Given the description of an element on the screen output the (x, y) to click on. 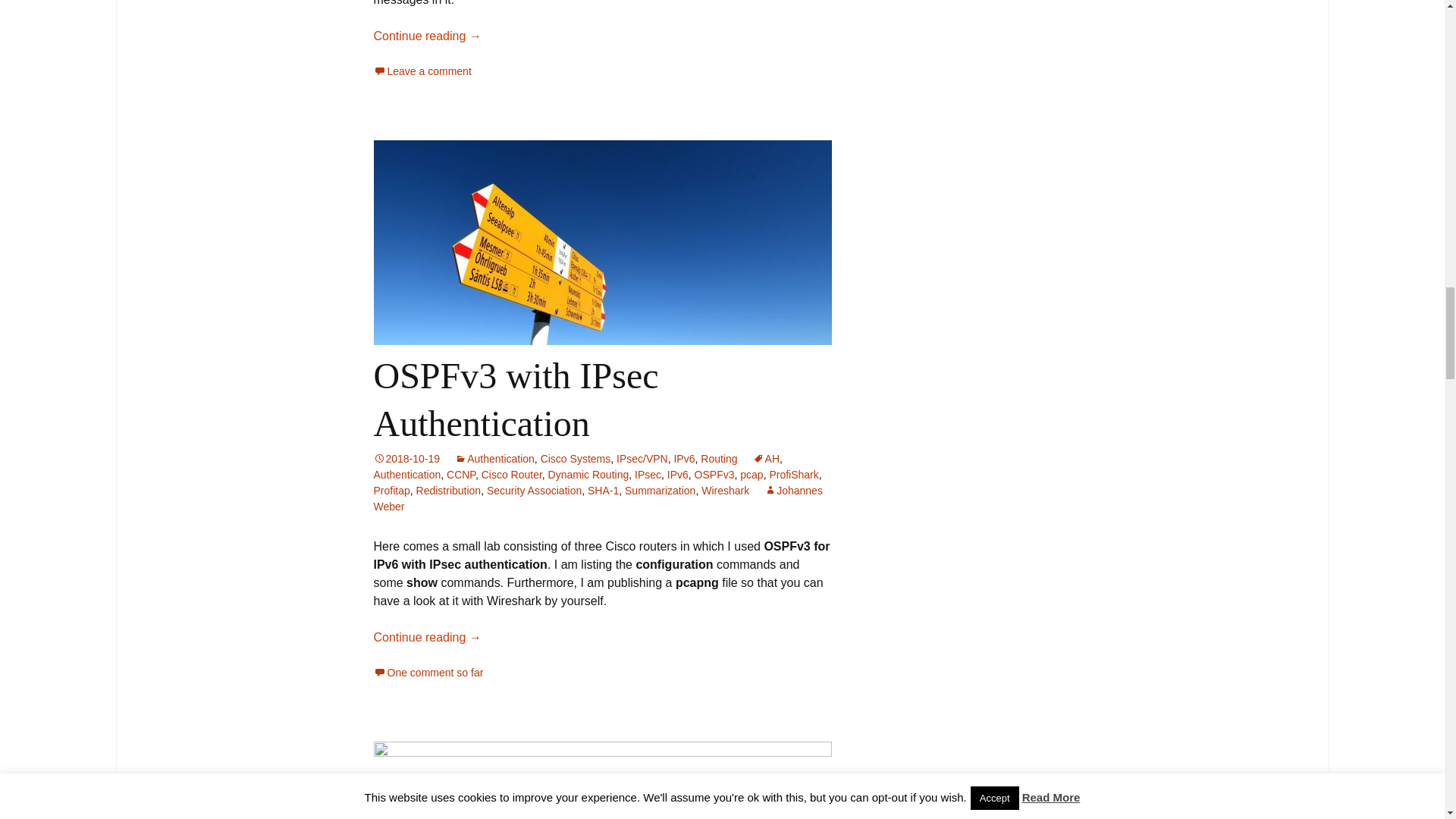
View all posts by Johannes Weber (597, 498)
Permalink to OSPFv3 with IPsec Authentication (405, 458)
